Given the description of an element on the screen output the (x, y) to click on. 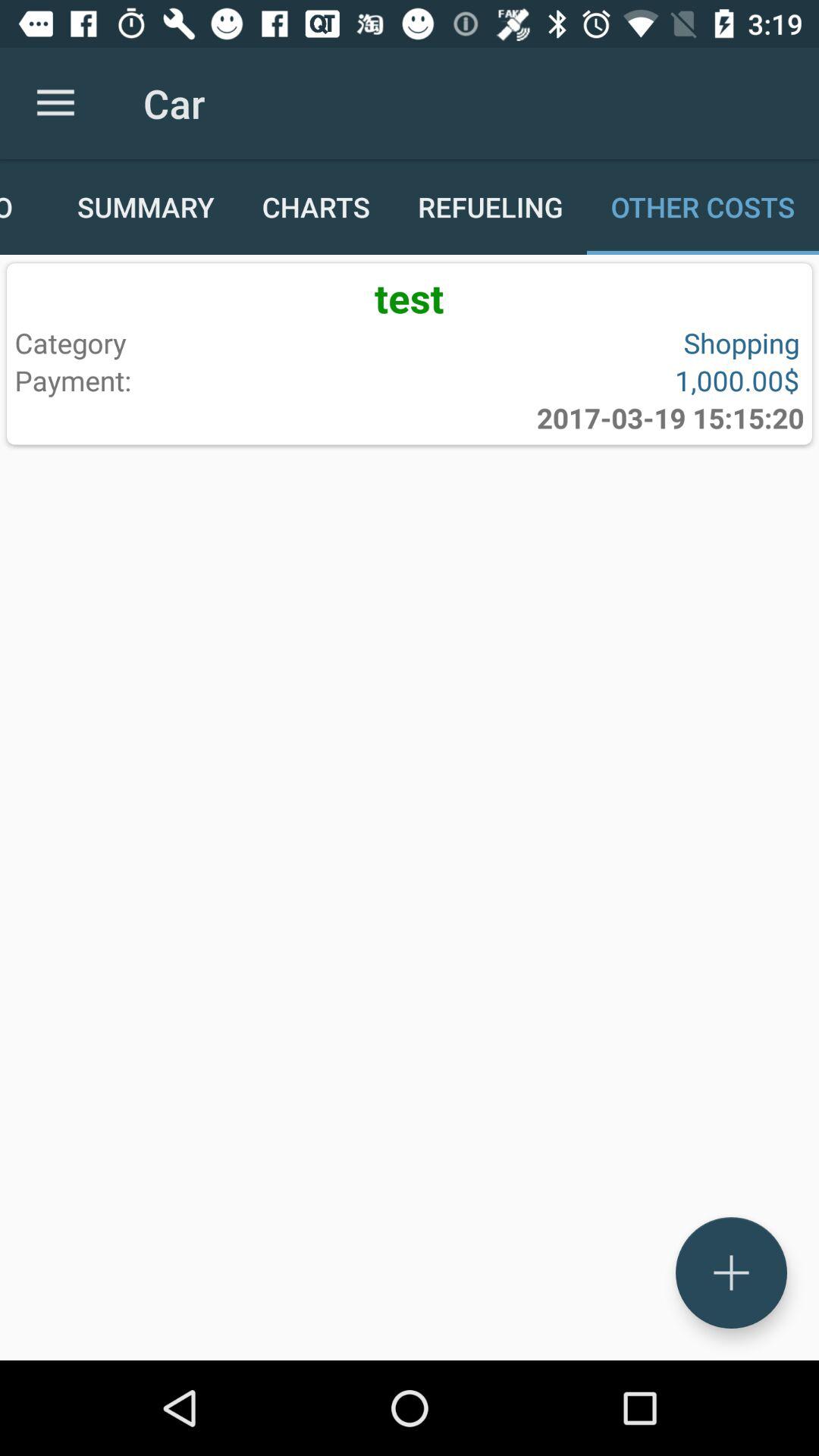
press the icon above the 2017 03 19 item (601, 380)
